Given the description of an element on the screen output the (x, y) to click on. 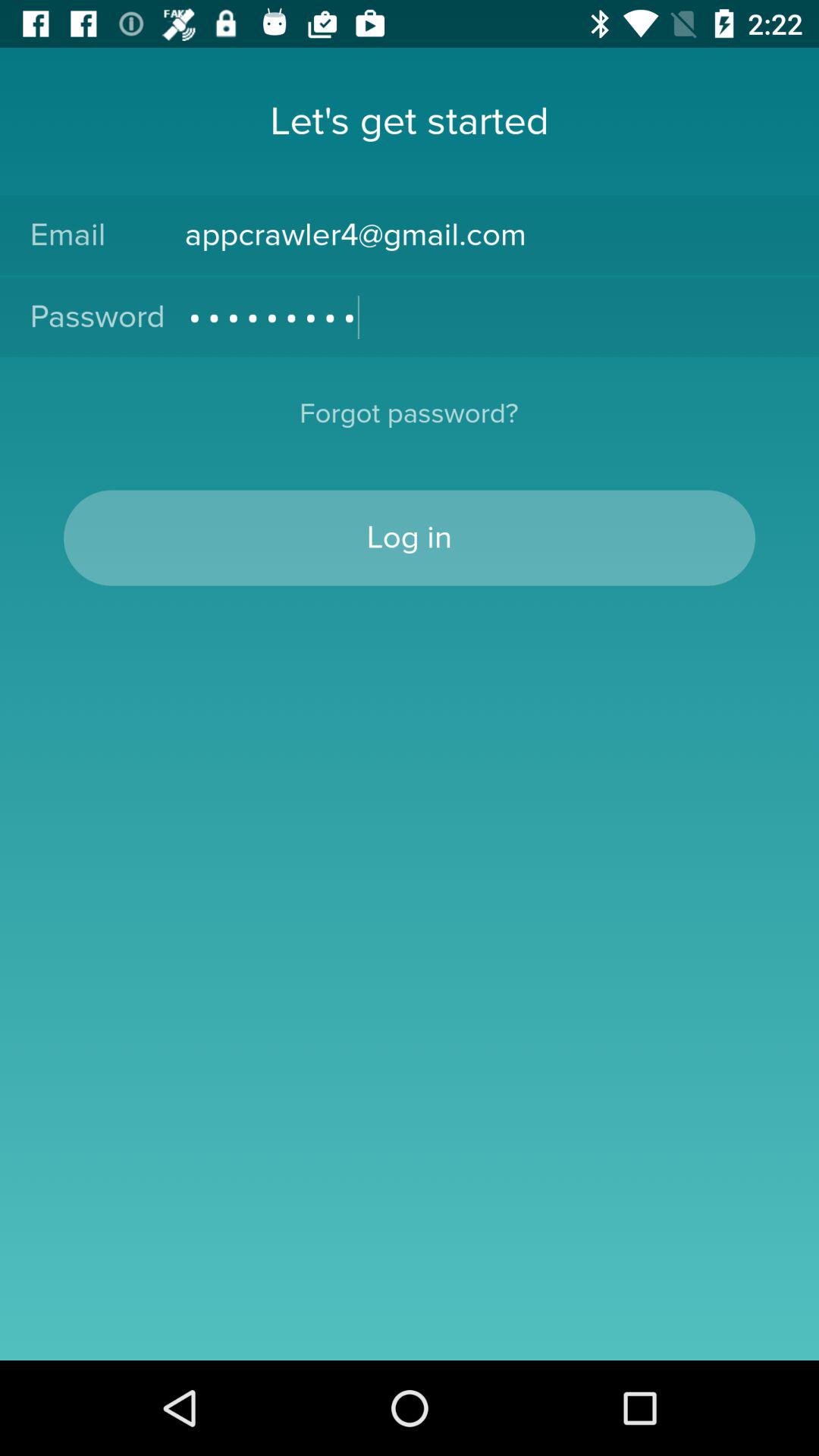
launch icon above crowd3116 icon (486, 235)
